Given the description of an element on the screen output the (x, y) to click on. 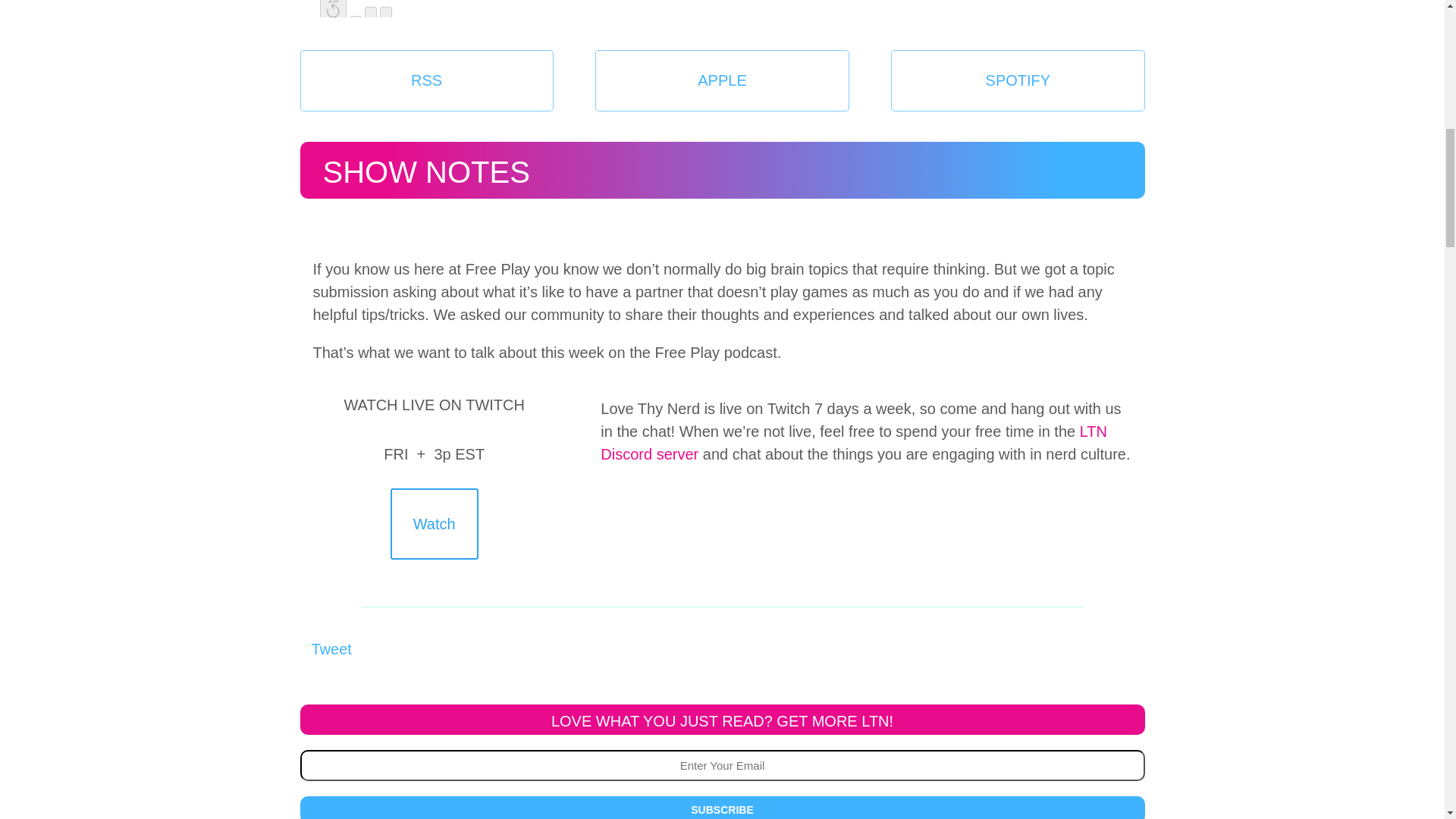
LTN Discord server (852, 446)
SPOTIFY (1017, 80)
RSS (426, 80)
Watch (434, 523)
Tweet (330, 648)
APPLE (721, 80)
SUBSCRIBE (721, 807)
SUBSCRIBE (721, 807)
